Given the description of an element on the screen output the (x, y) to click on. 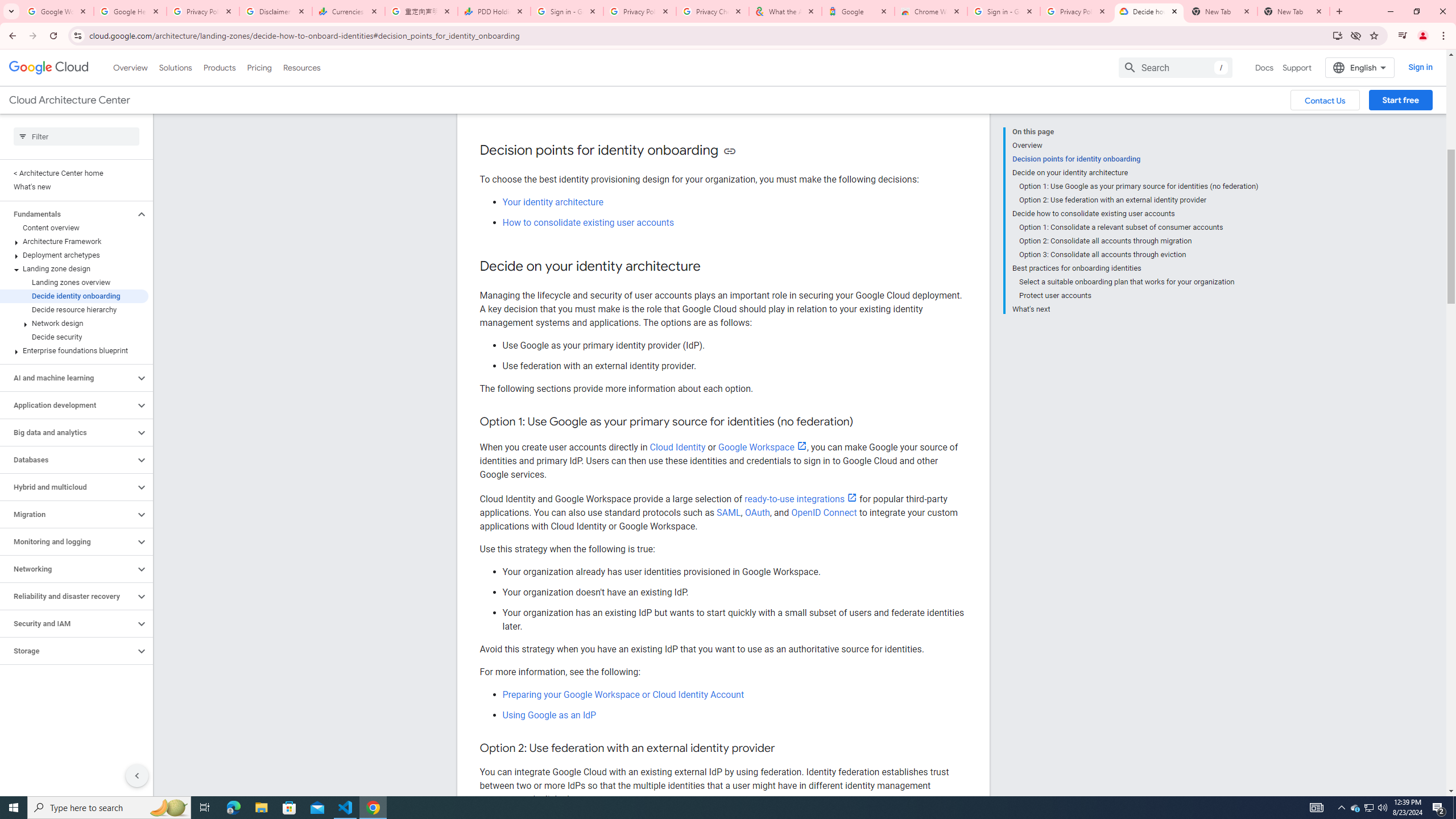
What's new (74, 187)
OpenID Connect (823, 512)
Architecture Framework (74, 241)
Type to filter (76, 136)
New Tab (1293, 11)
Content overview (74, 228)
Decide on your identity architecture (1134, 172)
Currencies - Google Finance (348, 11)
OAuth (757, 512)
